Given the description of an element on the screen output the (x, y) to click on. 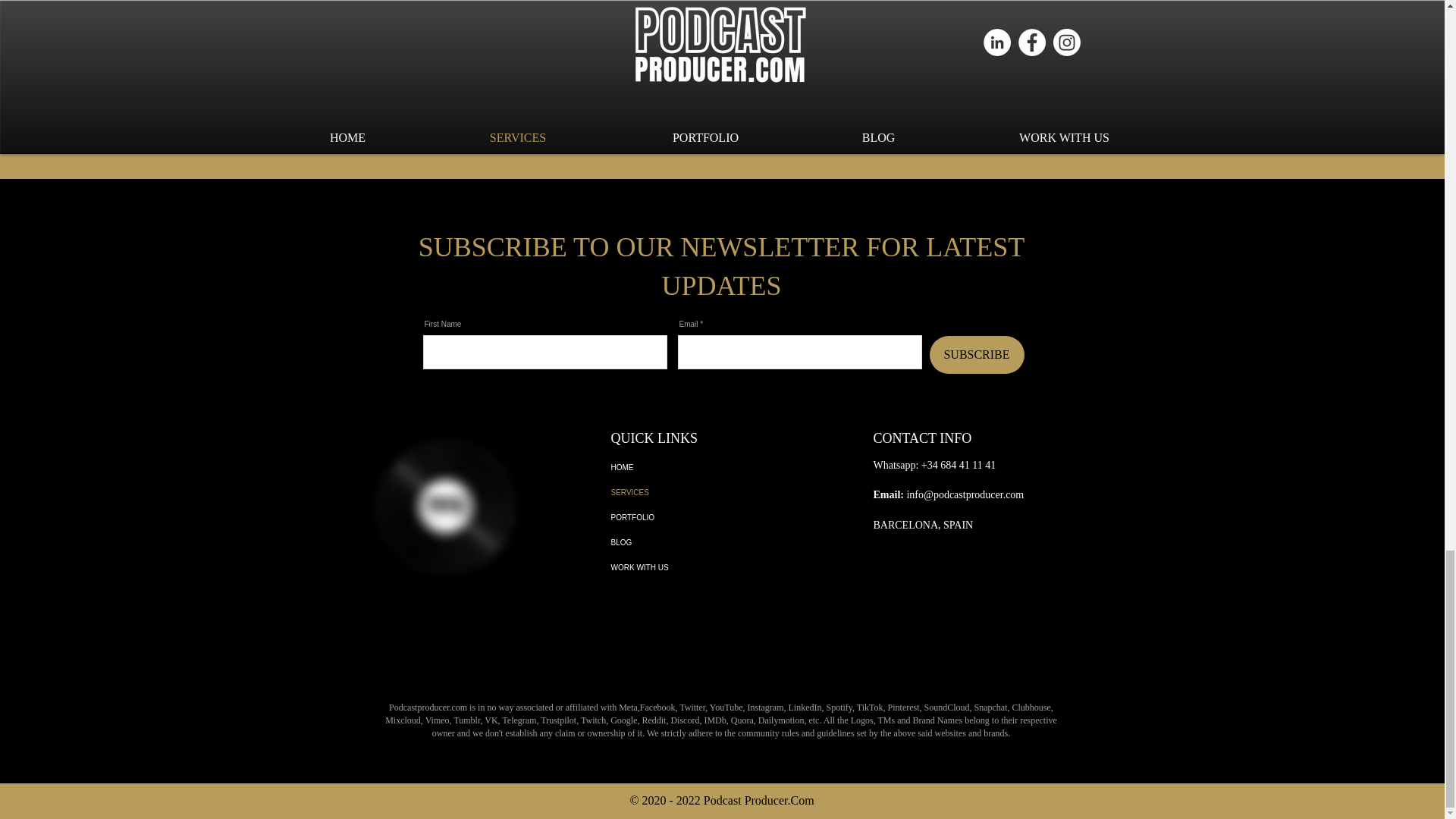
HOME (700, 467)
BLOG (700, 542)
SERVICES (700, 492)
WORK WITH US (700, 567)
SUBSCRIBE (977, 354)
PORTFOLIO (700, 517)
